Given the description of an element on the screen output the (x, y) to click on. 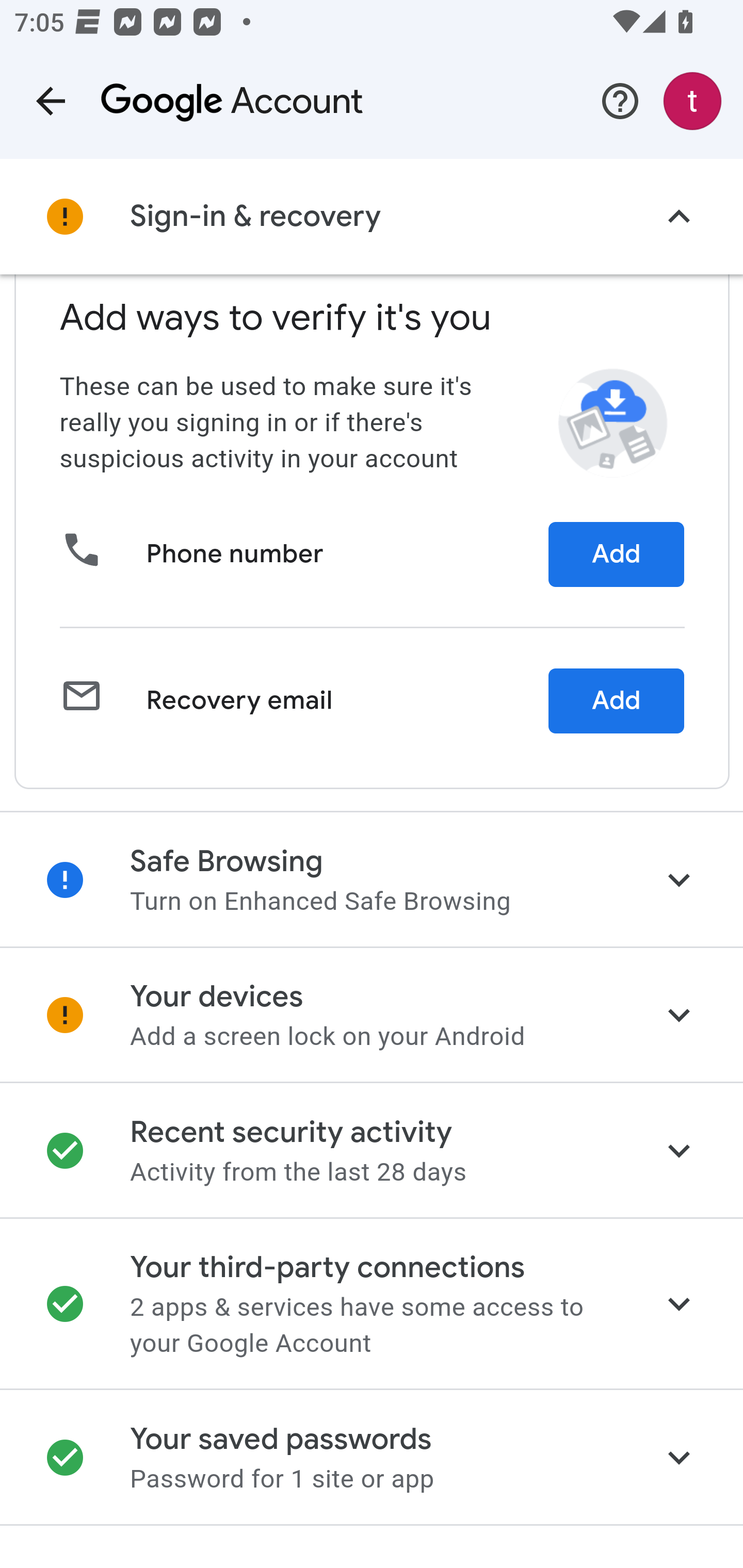
Navigate up (50, 101)
Help & feedback (619, 101)
Issues found in sign-in & recovery (371, 216)
Add your phone number (616, 556)
Add a recovery email (616, 701)
Safe Browsing Turn on Enhanced Safe Browsing (371, 881)
Your saved passwords Password for 1 site or app (371, 1458)
